Given the description of an element on the screen output the (x, y) to click on. 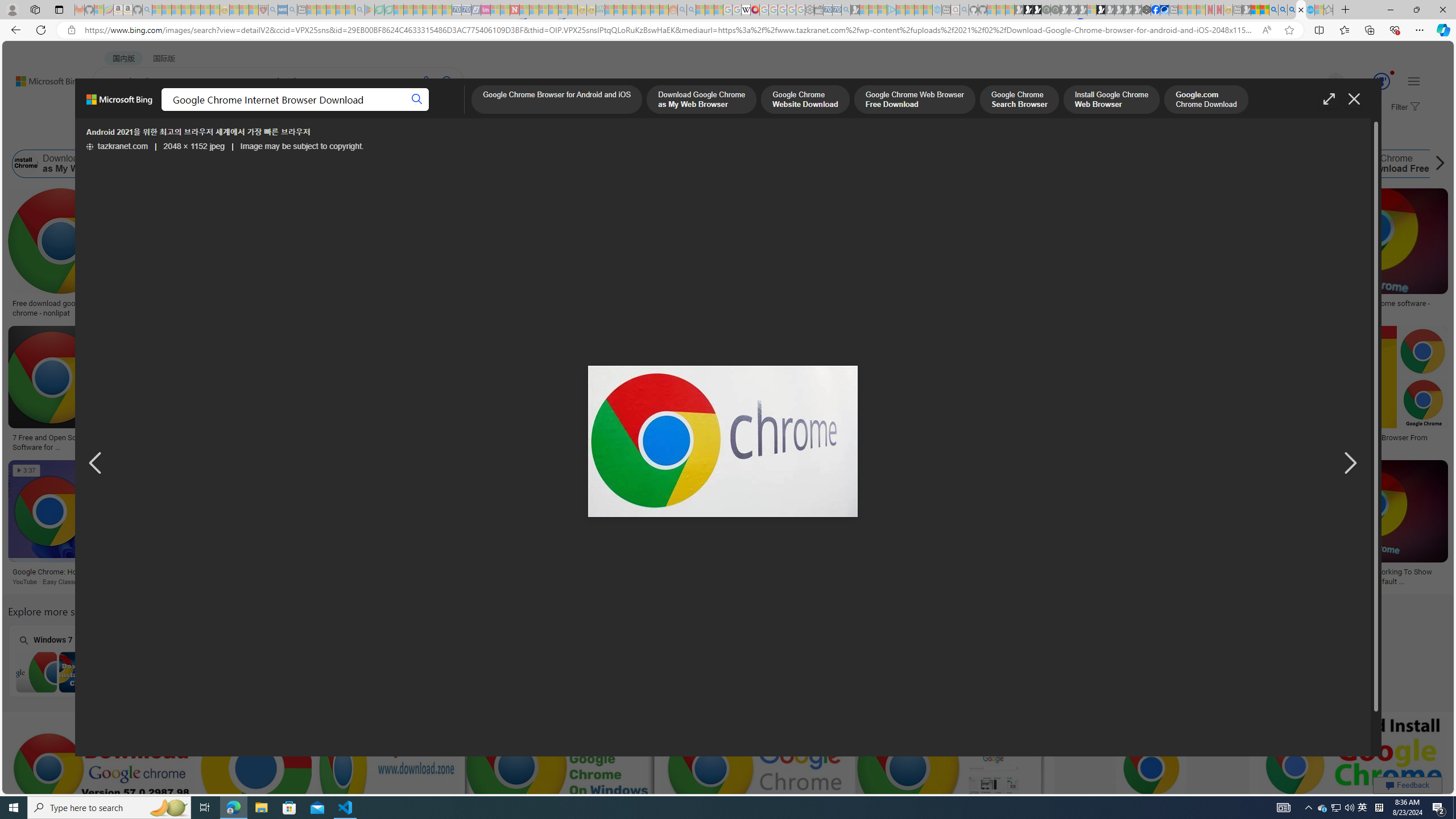
Nordace | Facebook (1154, 9)
Google Chrome Browser for Android and iOS (556, 100)
All Categories - humanrewa (604, 437)
Latest Politics News & Archive | Newsweek.com - Sleeping (514, 9)
Chrome Browser (1203, 571)
What Is The Fastest Browser To Use With Windows 10Save (1037, 524)
Google Chrome Fast Download (997, 163)
Microsoft Start Gaming - Sleeping (854, 9)
Layout (252, 135)
